Given the description of an element on the screen output the (x, y) to click on. 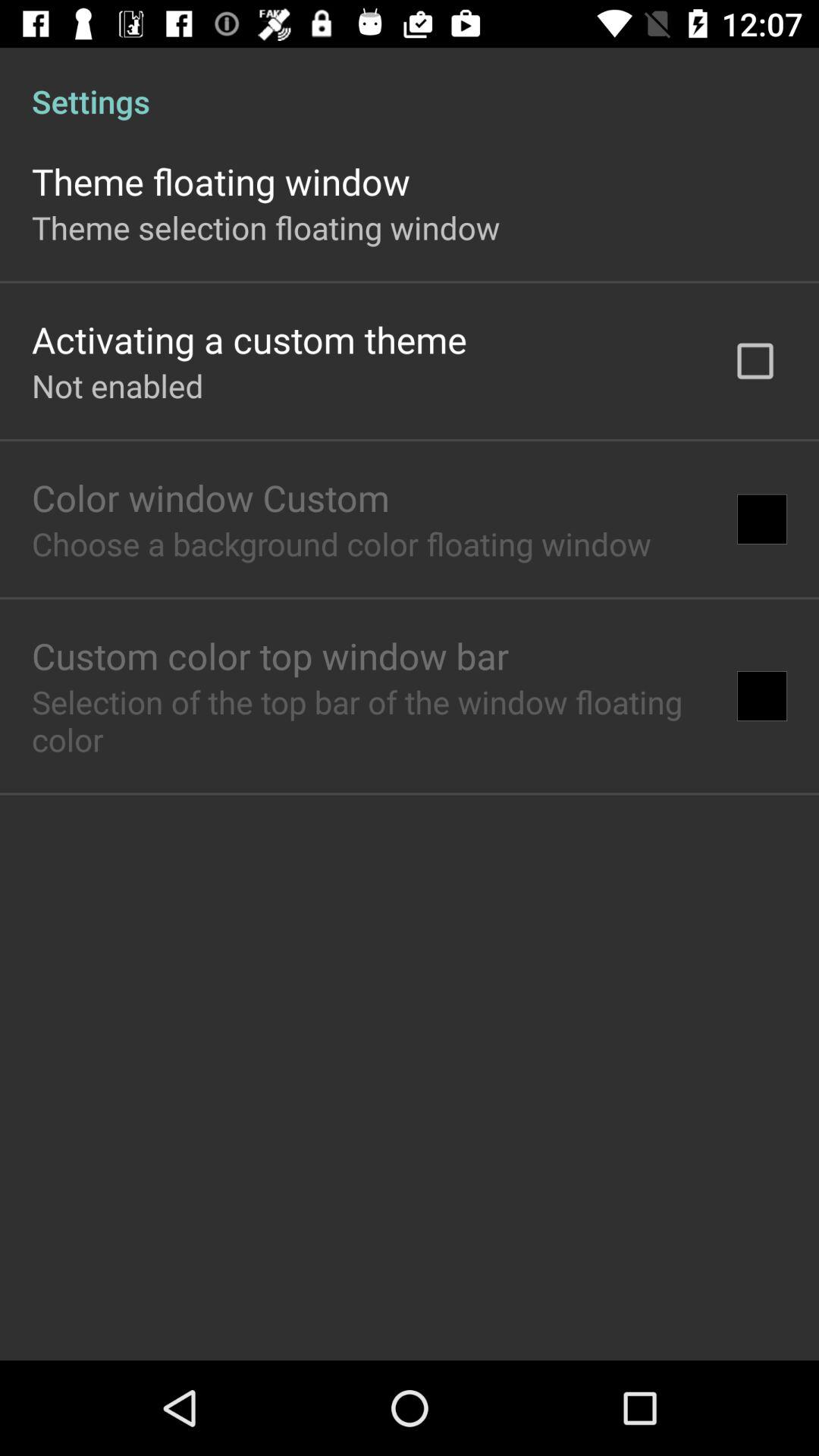
jump until activating a custom (248, 339)
